Given the description of an element on the screen output the (x, y) to click on. 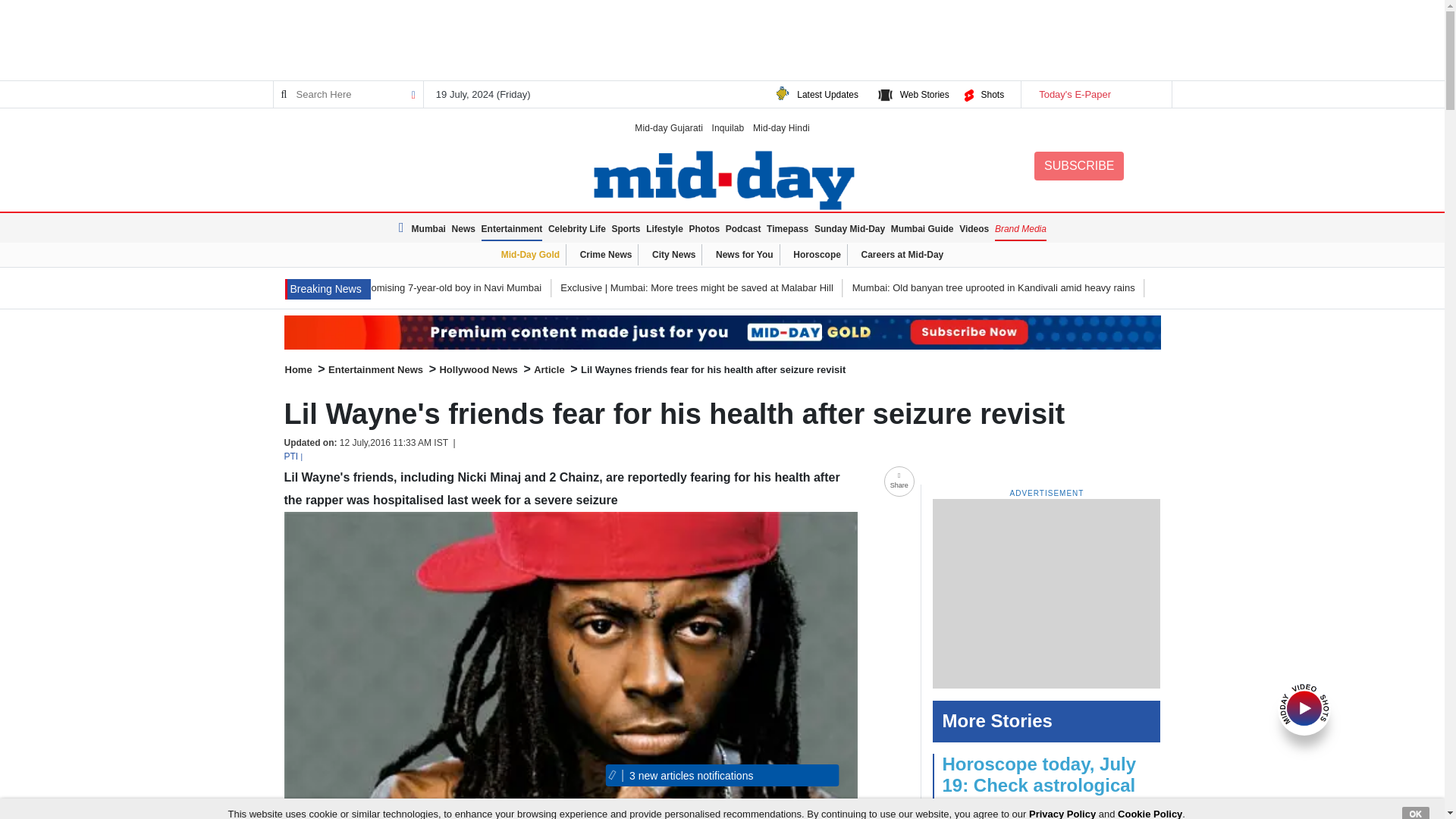
Latest News (328, 289)
Latest Updates (827, 94)
Inquilab (728, 127)
Mid-day Hindi (780, 127)
Today's E-Paper (1095, 94)
Web Stories (924, 94)
Subscription (721, 332)
Latest News (403, 227)
Midday Shot Videos (1304, 706)
SUBSCRIBE (1078, 165)
Mid-day Gujarati (668, 127)
Shots (991, 94)
